Given the description of an element on the screen output the (x, y) to click on. 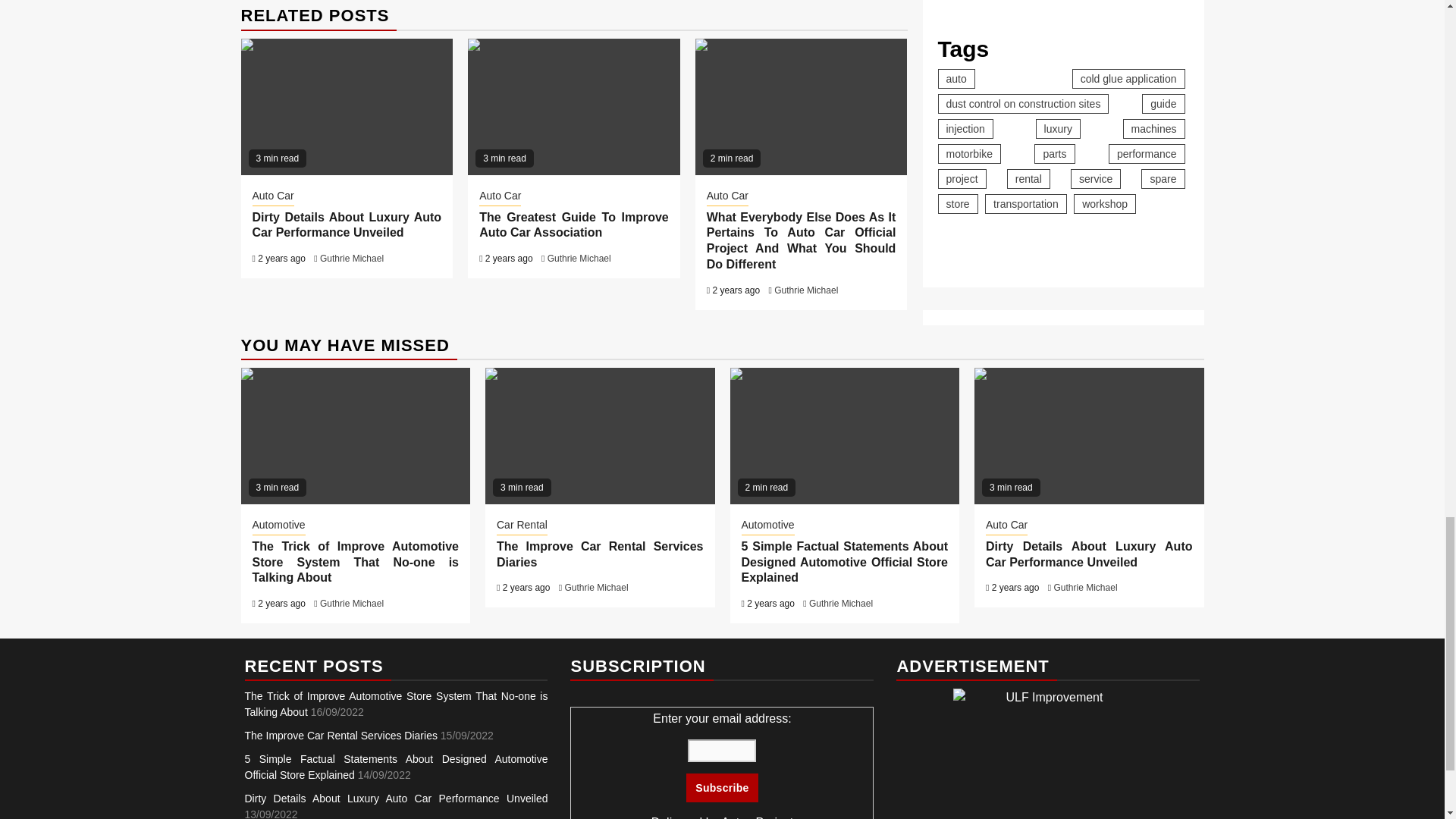
Auto Car (727, 197)
The Greatest Guide To Improve Auto Car Association (573, 224)
Dirty Details About Luxury Auto Car Performance Unveiled (346, 224)
Guthrie Michael (806, 290)
Subscribe (721, 787)
Guthrie Michael (579, 258)
Guthrie Michael (352, 258)
Auto Car (272, 197)
The Greatest Guide To Improve Auto Car Association (573, 105)
Auto Car (500, 197)
Dirty Details About Luxury Auto Car Performance Unveiled (346, 105)
